Given the description of an element on the screen output the (x, y) to click on. 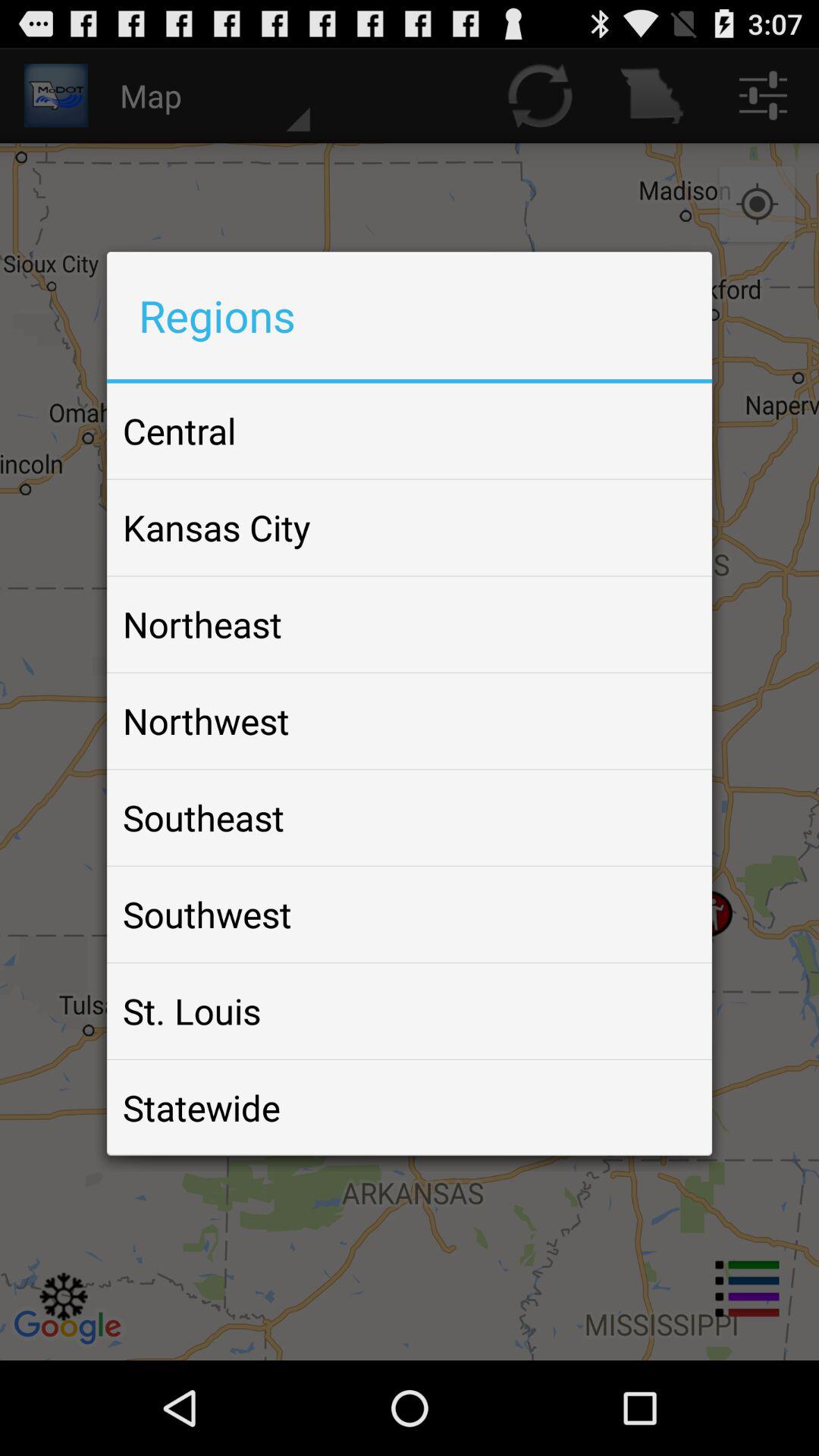
choose the item next to the central (664, 430)
